Given the description of an element on the screen output the (x, y) to click on. 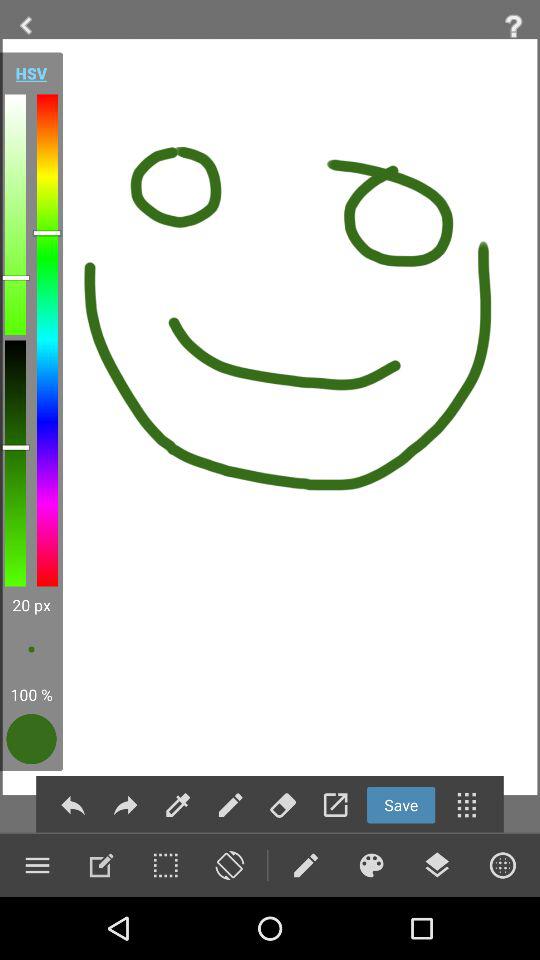
go back option (72, 804)
